Given the description of an element on the screen output the (x, y) to click on. 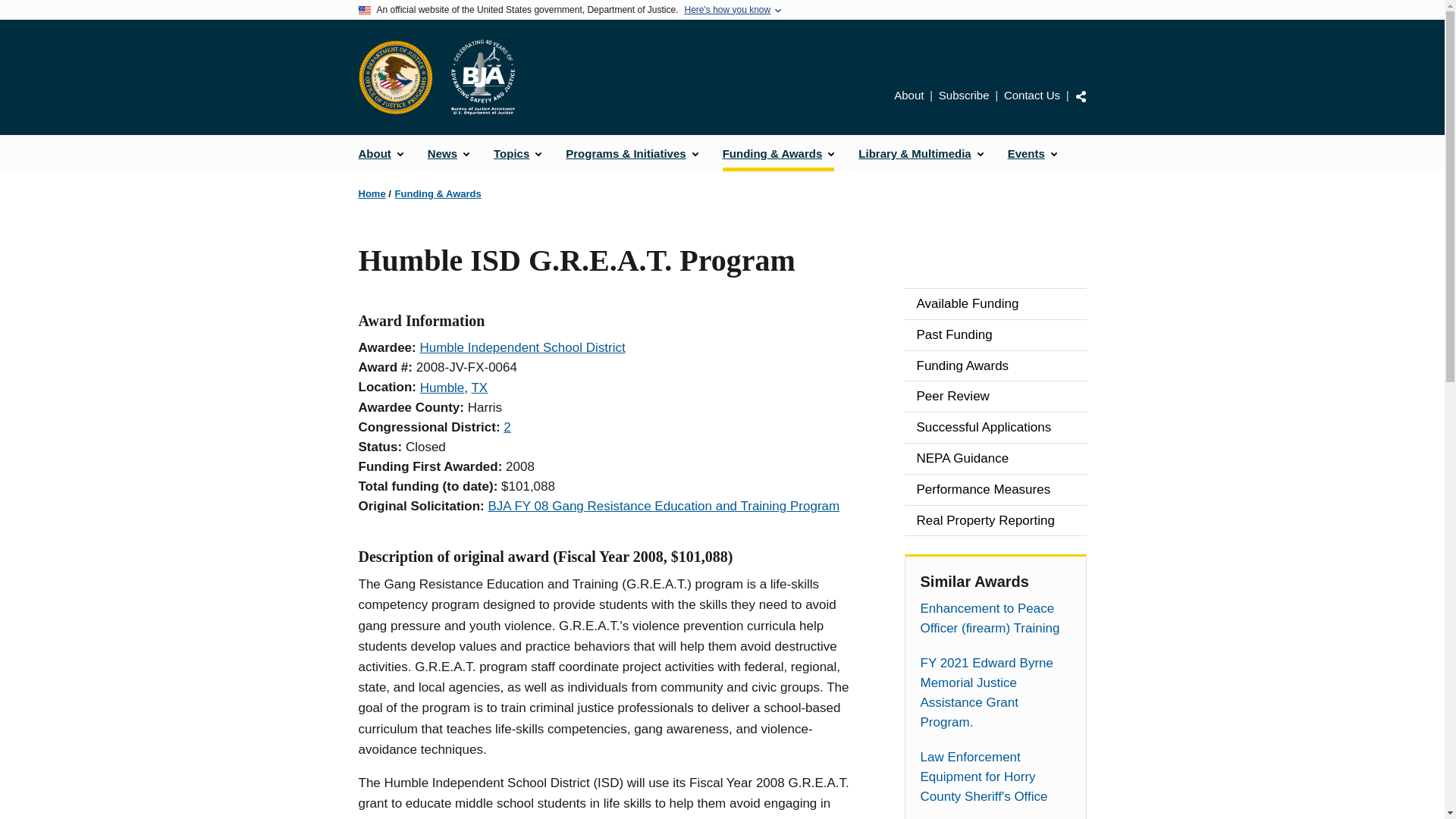
Subscribe (964, 94)
Here's how you know (727, 9)
Law Enforcement Equipment for Horry County Sheriff's Office (995, 776)
Real Property Reporting (995, 521)
Choose a social sharing platform (1080, 96)
About (380, 153)
Past Funding (995, 335)
News (447, 153)
Events (1031, 153)
Topics (517, 153)
